Given the description of an element on the screen output the (x, y) to click on. 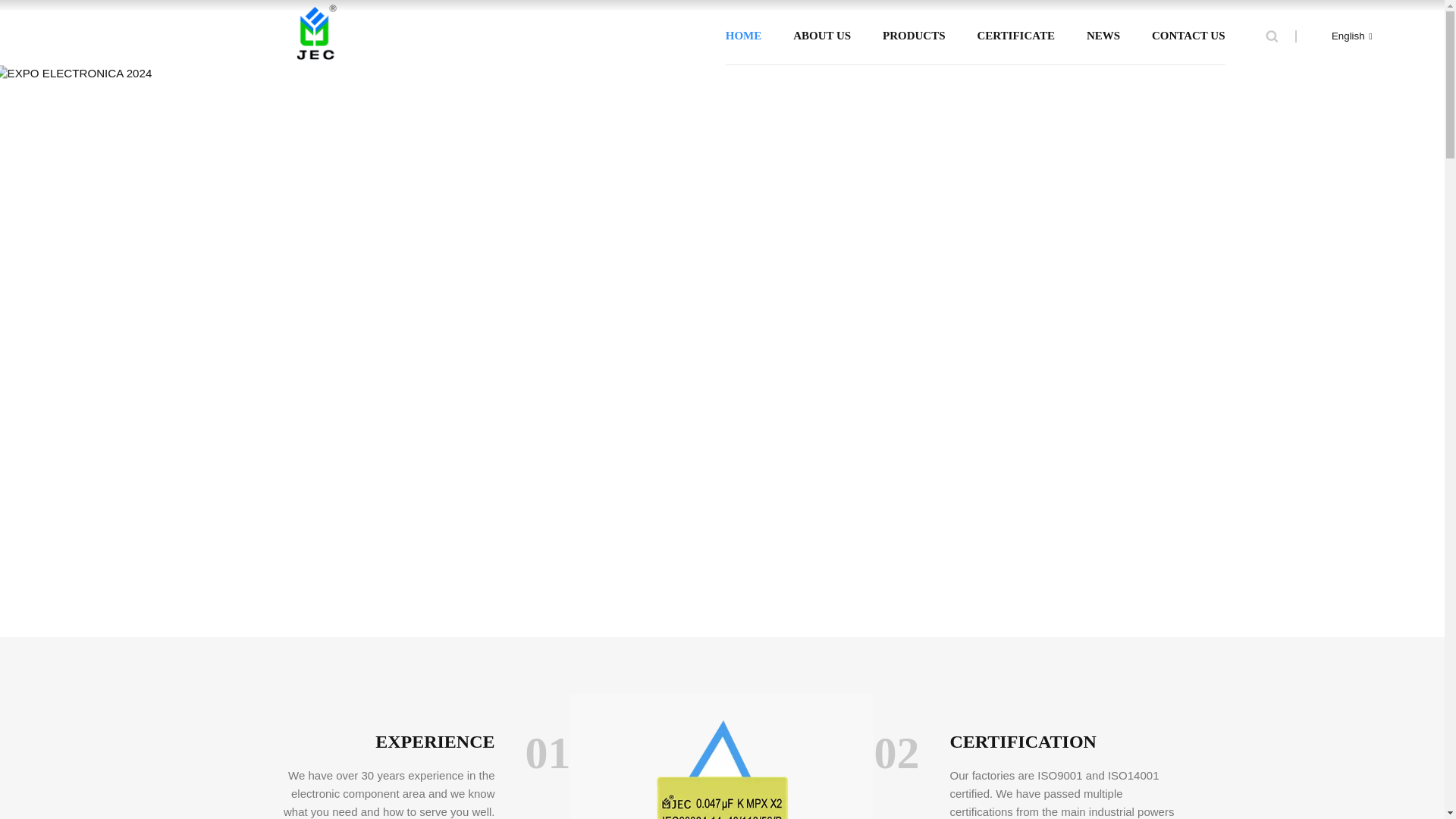
NEWS (1102, 35)
PRODUCTS (913, 35)
CERTIFICATION (1062, 741)
CERTIFICATE (1015, 35)
English (1339, 35)
EXPERIENCE (380, 741)
ABOUT US (821, 35)
HOME (743, 35)
CONTACT US (1188, 35)
